Given the description of an element on the screen output the (x, y) to click on. 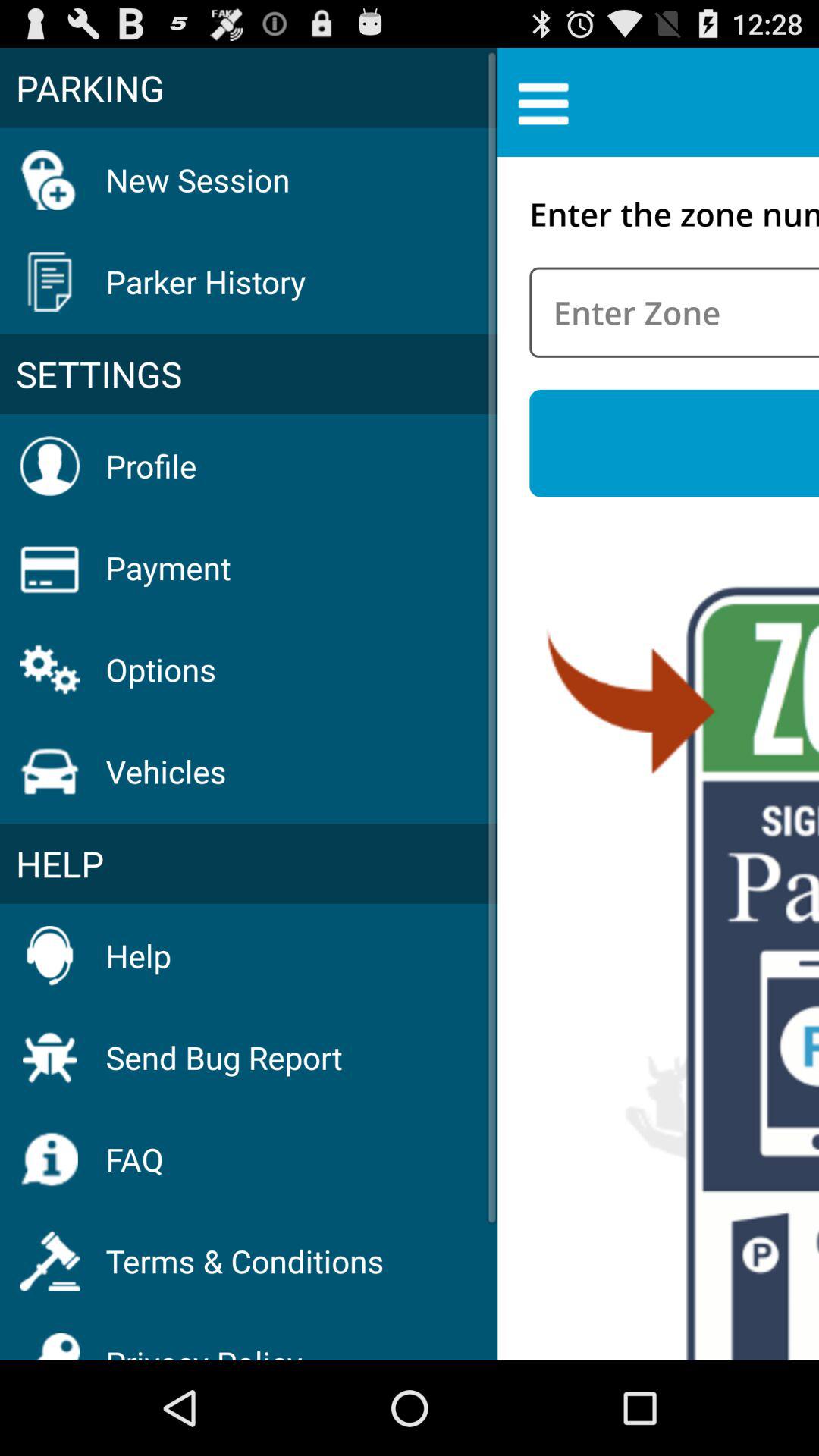
launch item above the terms & conditions (134, 1158)
